Given the description of an element on the screen output the (x, y) to click on. 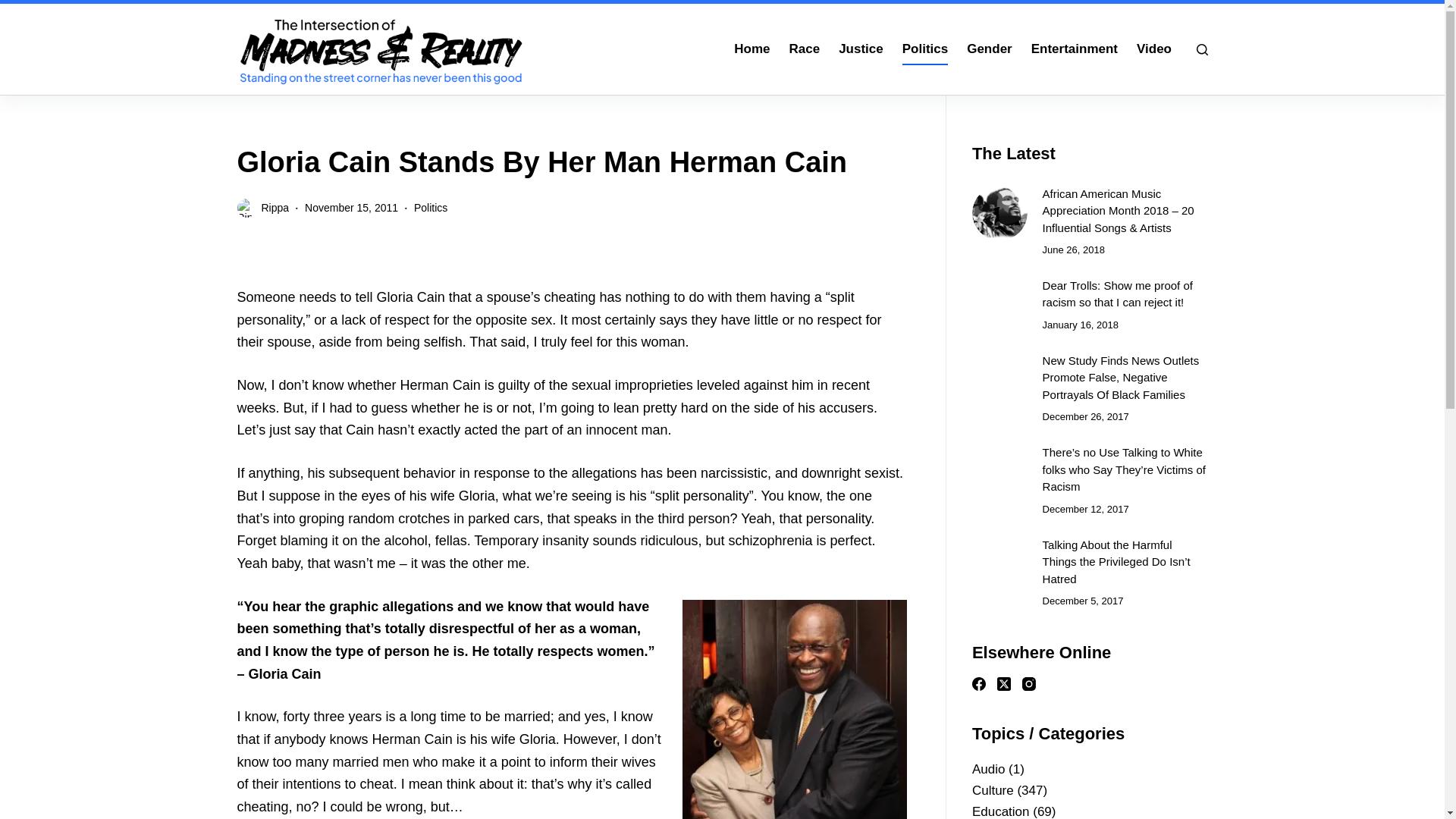
Gender (990, 49)
Video (1153, 49)
Rippa (274, 207)
Posts by Rippa (274, 207)
Justice (861, 49)
Politics (924, 49)
Gloria Cain Stands By Her Man Herman Cain (570, 162)
Home (751, 49)
Politics (429, 207)
Race (803, 49)
Skip to content (15, 7)
Entertainment (1074, 49)
